Given the description of an element on the screen output the (x, y) to click on. 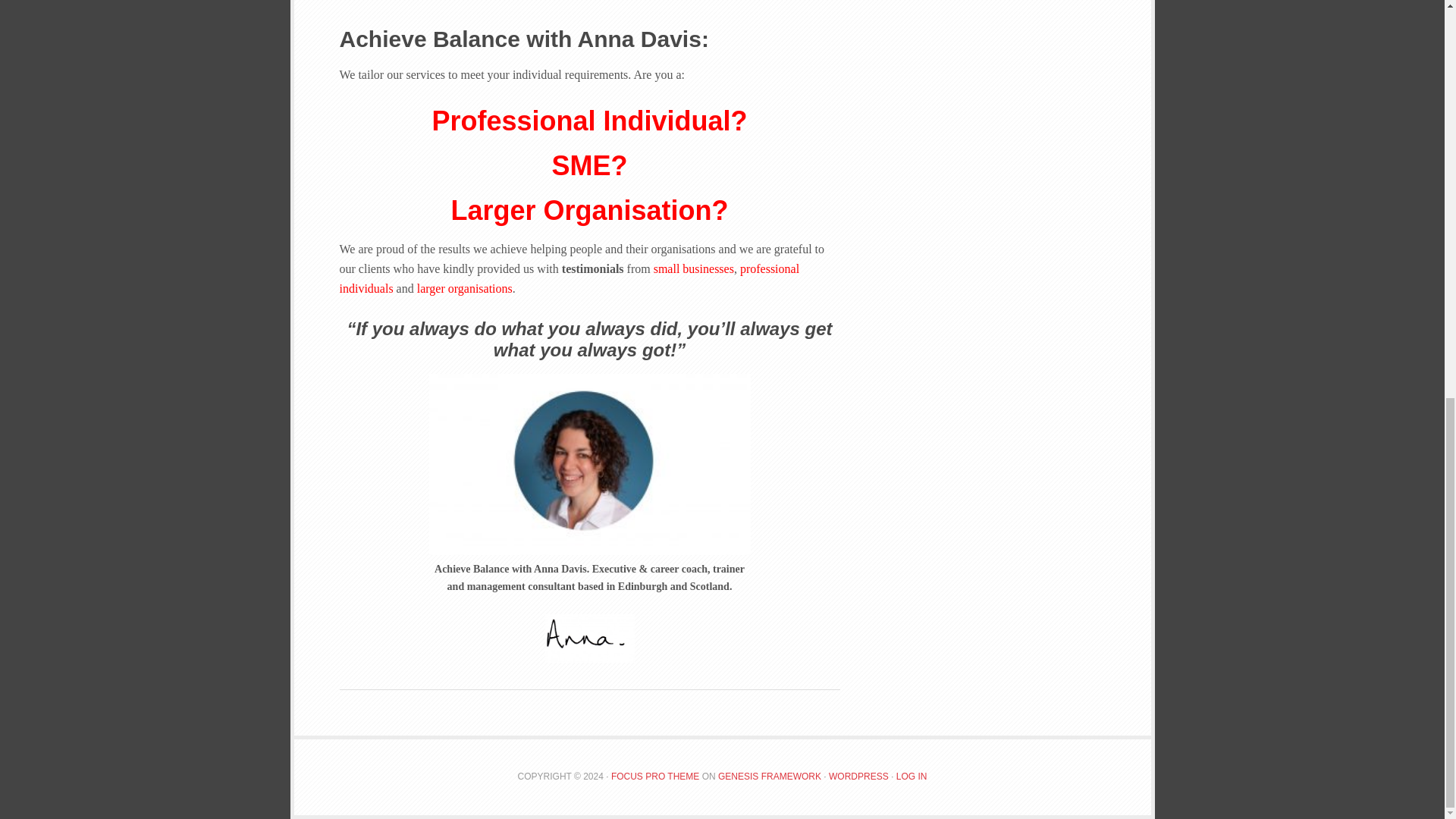
LOG IN (911, 776)
Professional individuals (589, 164)
Testimonials (693, 268)
Testimonials (464, 287)
Larger Organisation? (588, 210)
larger organisations (464, 287)
WORDPRESS (858, 776)
SME? (589, 164)
GENESIS FRAMEWORK (769, 776)
Professional Individual? (588, 120)
professional individuals (569, 278)
Testimonials (569, 278)
FOCUS PRO THEME (654, 776)
Larger organisations (588, 210)
small businesses (693, 268)
